Given the description of an element on the screen output the (x, y) to click on. 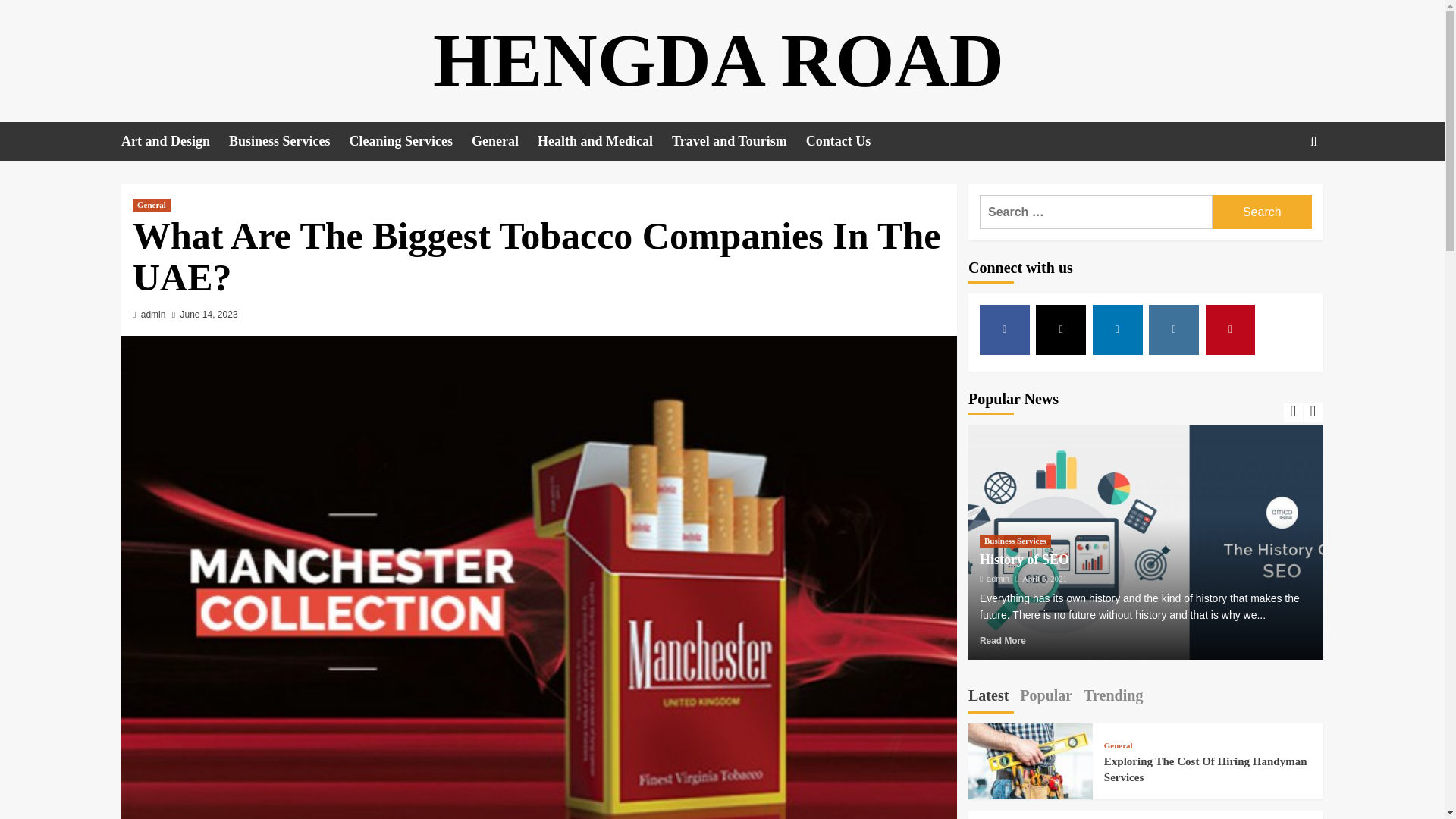
Search (1261, 211)
Pinterest (1230, 329)
June 14, 2023 (209, 314)
LinkedIn (1117, 329)
Instagram (1173, 329)
Art and Design (174, 141)
General (151, 205)
HENGDA ROAD (718, 60)
Travel and Tourism (738, 141)
Search (1261, 211)
